Given the description of an element on the screen output the (x, y) to click on. 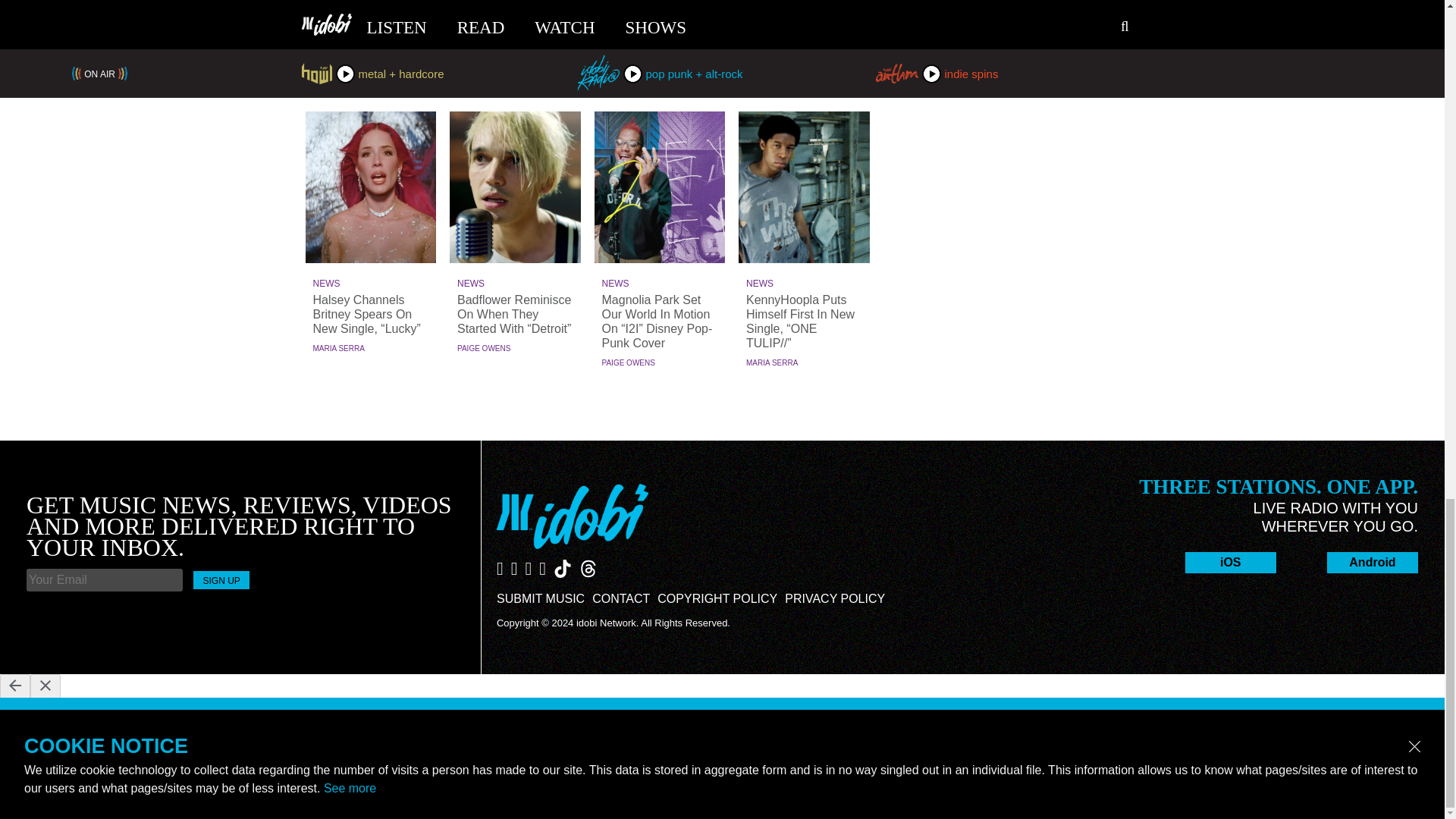
MARIA SERRA (338, 347)
NEWS (659, 283)
PAIGE OWENS (628, 362)
SIGN UP (220, 579)
PAIGE OWENS (484, 347)
MARIA SERRA (771, 362)
NEWS (803, 283)
Maria Serra (338, 347)
Maria Serra (771, 362)
Paige Owens (628, 362)
NEWS (514, 283)
Paige Owens (484, 347)
NEWS (369, 283)
